Given the description of an element on the screen output the (x, y) to click on. 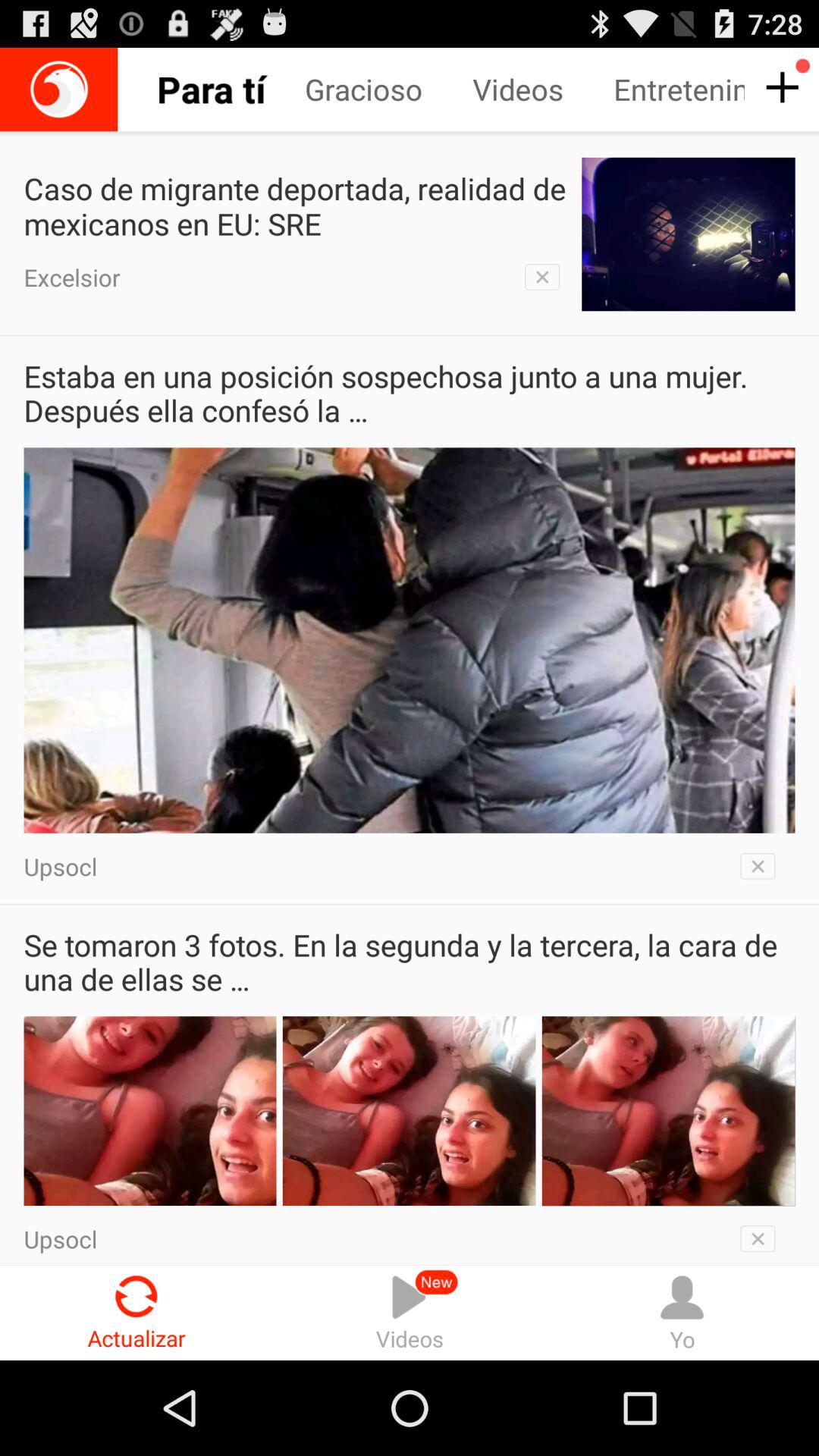
select gracioso item (388, 89)
